Given the description of an element on the screen output the (x, y) to click on. 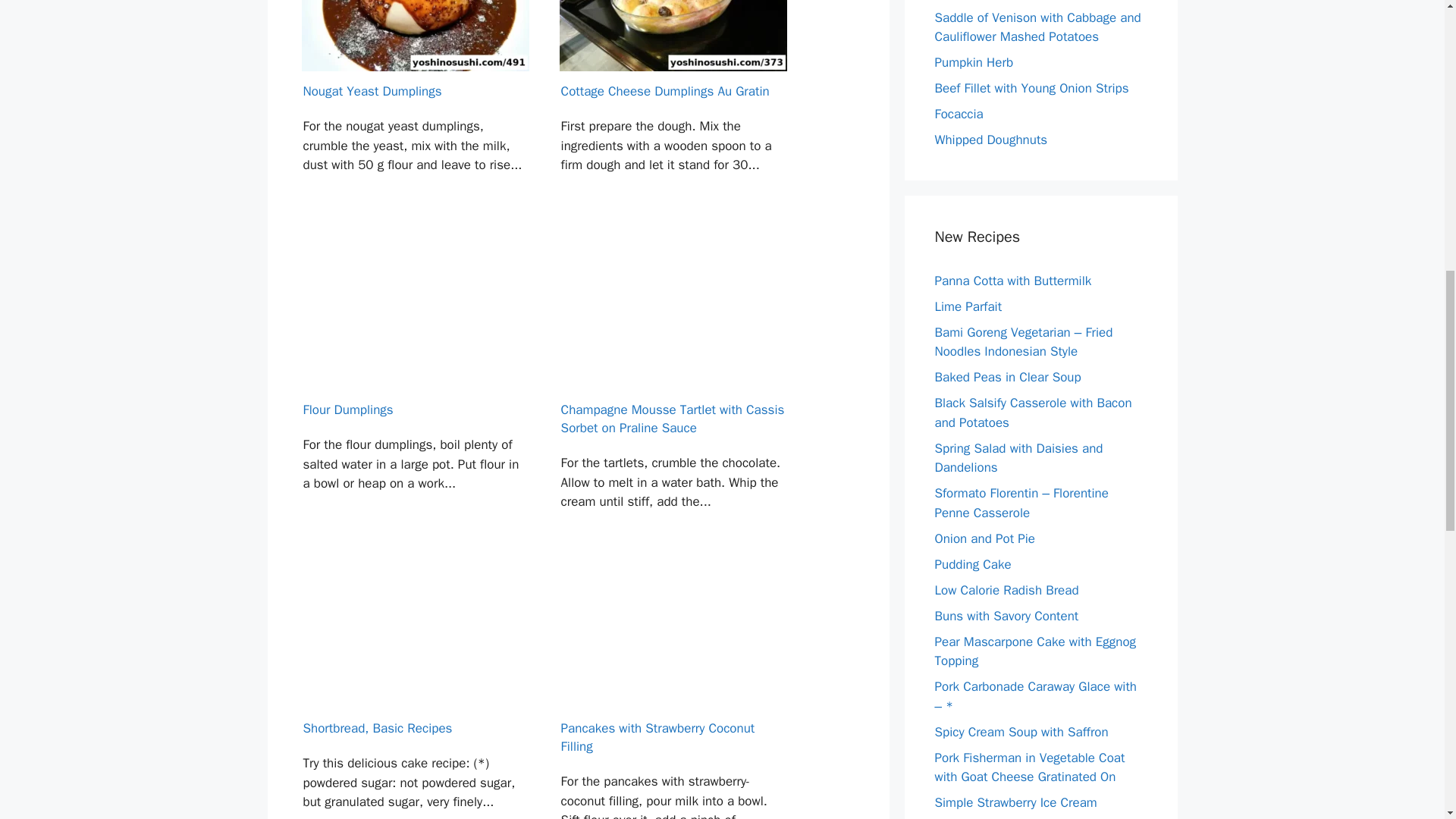
Whipped Doughnuts (990, 139)
Panna Cotta with Buttermilk (1012, 280)
Beef Fillet with Young Onion Strips (1031, 88)
Pumpkin Herb (973, 62)
Cottage Cheese Dumplings Au Gratin (673, 113)
Focaccia (958, 114)
Nougat Yeast Dumplings (414, 113)
